Given the description of an element on the screen output the (x, y) to click on. 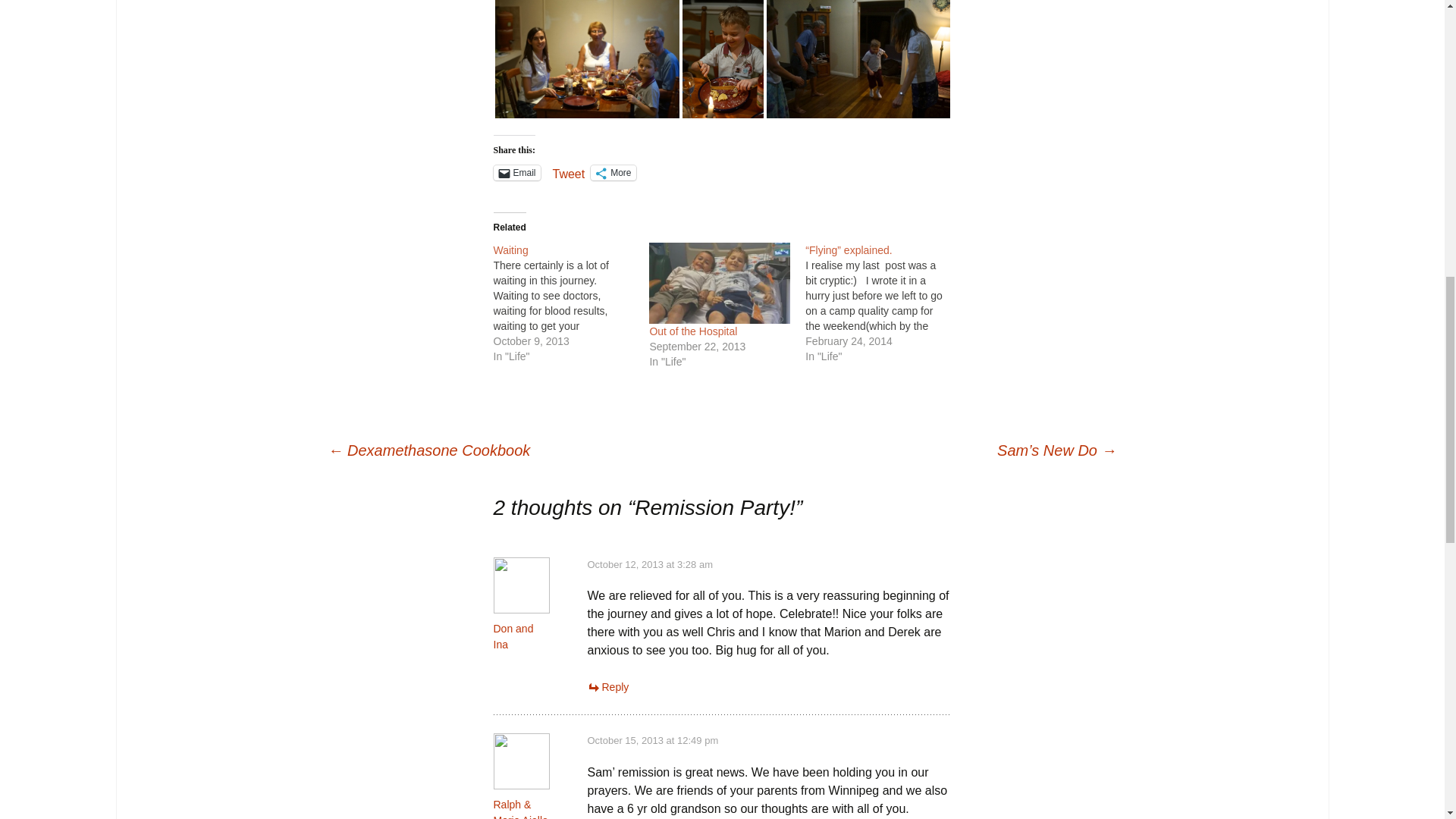
October 12, 2013 at 3:28 am (649, 564)
Out of the Hospital (692, 331)
October 15, 2013 at 12:49 pm (651, 740)
Email (516, 172)
Out of the Hospital (692, 331)
Waiting (571, 302)
Out of the Hospital (719, 282)
More (612, 172)
DSC02085 (586, 58)
DSC02107 (857, 58)
Tweet (569, 172)
Waiting (510, 250)
Click to email a link to a friend (516, 172)
Waiting (510, 250)
Reply (607, 686)
